Given the description of an element on the screen output the (x, y) to click on. 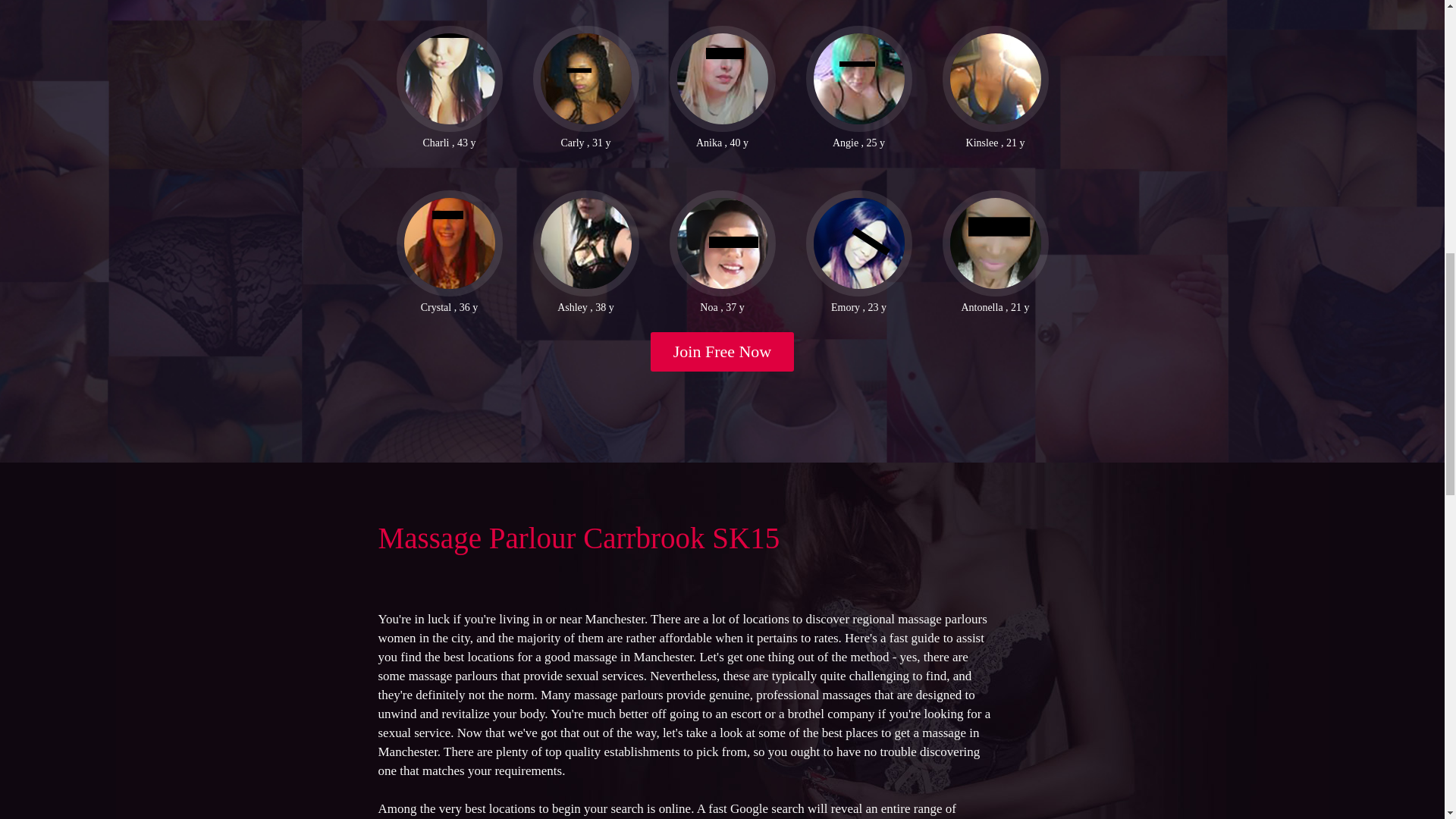
Massage Parlour Carrbrook SK15 (577, 537)
Join (722, 351)
Join Free Now (722, 351)
